Given the description of an element on the screen output the (x, y) to click on. 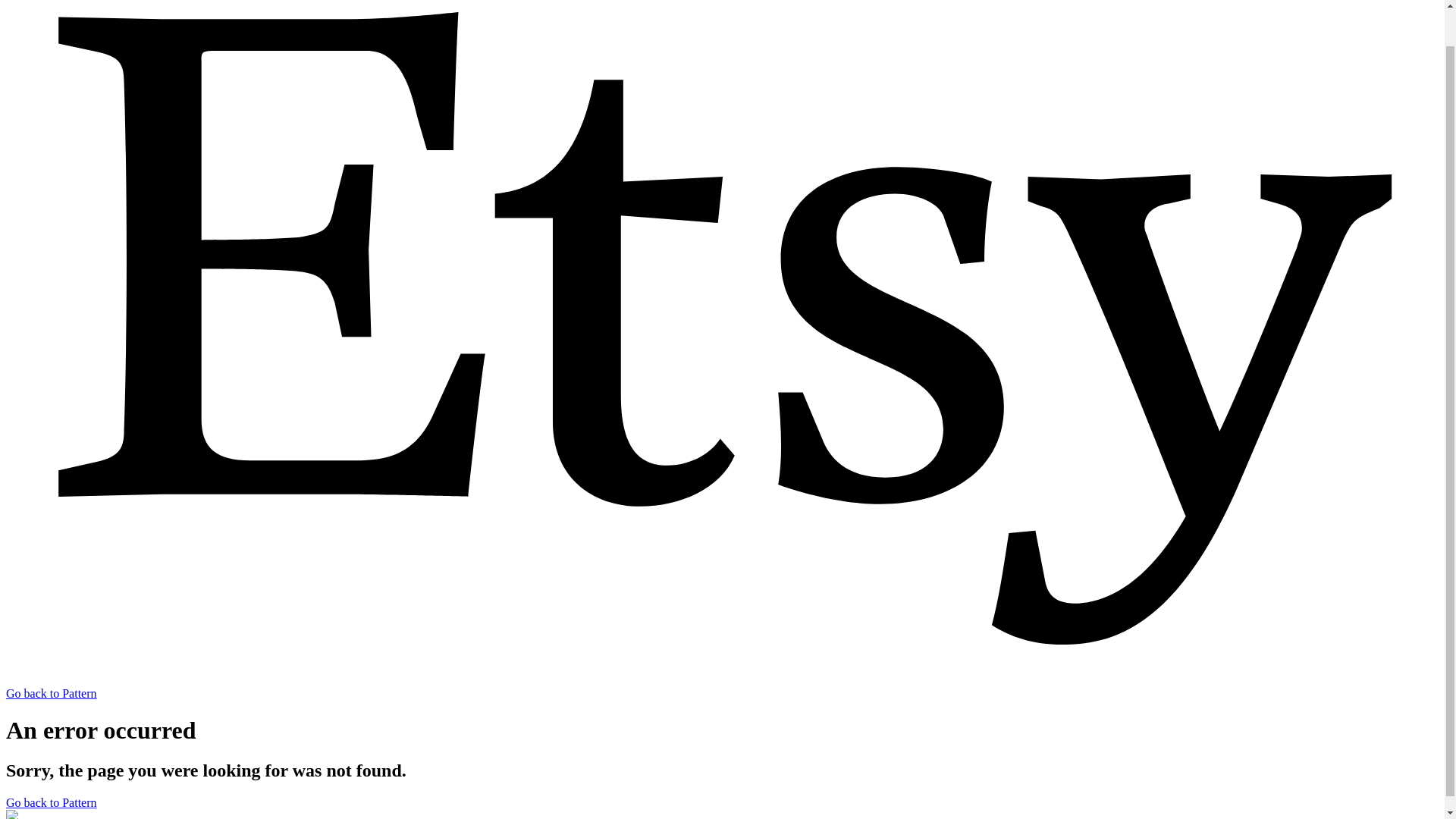
Go back to Pattern (51, 802)
